Given the description of an element on the screen output the (x, y) to click on. 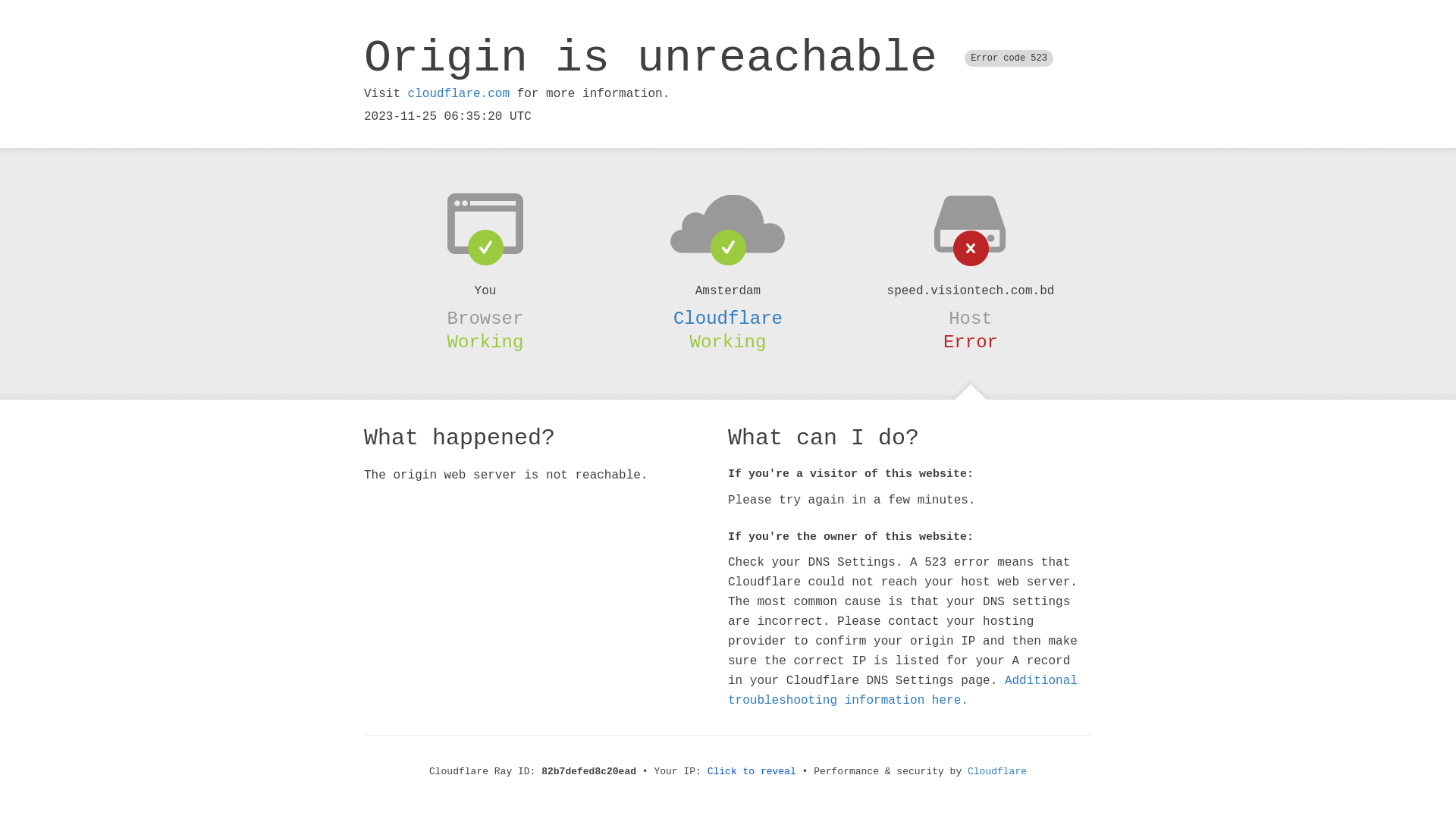
Cloudflare Element type: text (727, 318)
Cloudflare Element type: text (996, 771)
Additional troubleshooting information here. Element type: text (902, 690)
cloudflare.com Element type: text (458, 93)
Click to reveal Element type: text (751, 771)
